Given the description of an element on the screen output the (x, y) to click on. 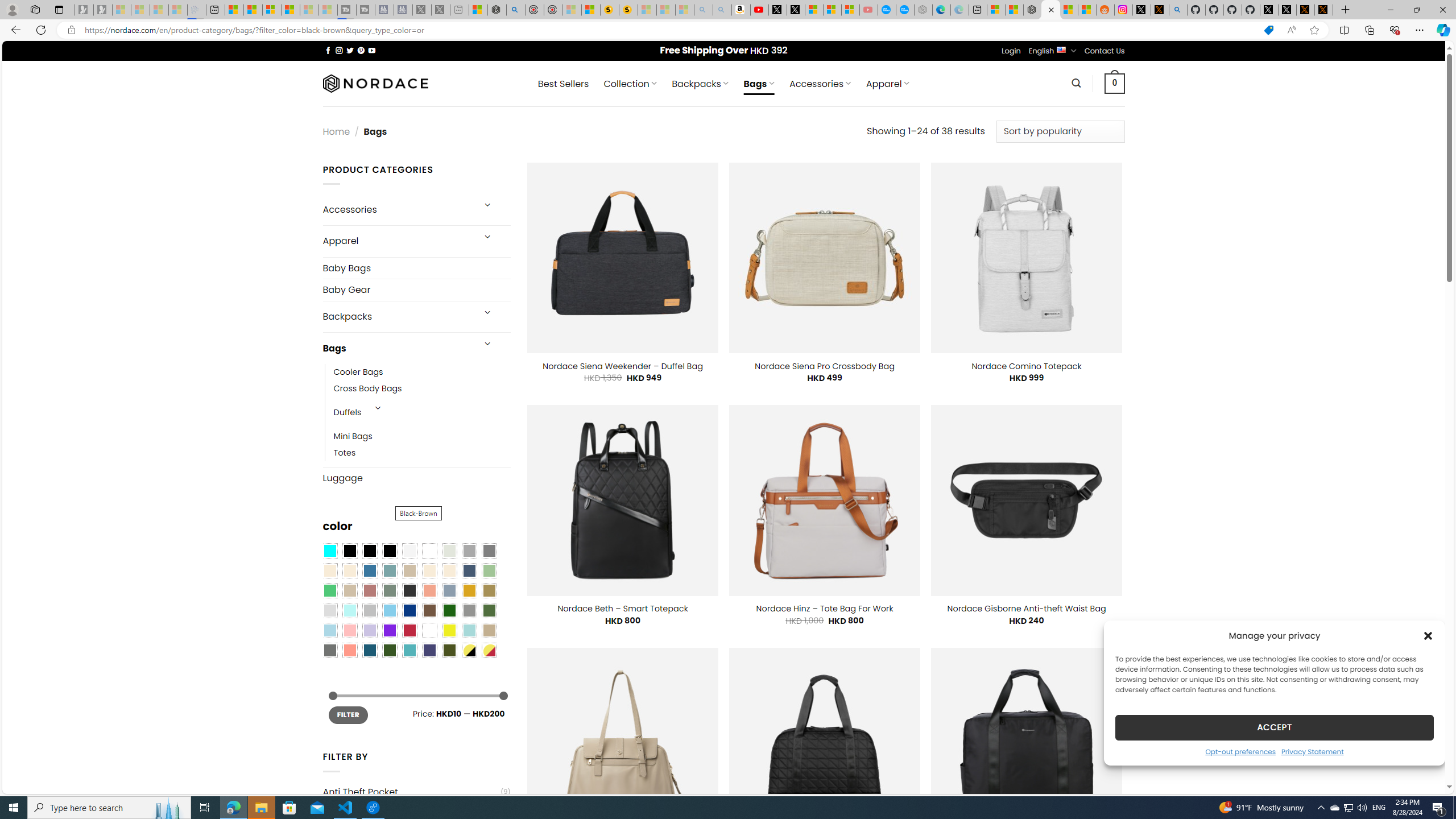
Luggage (416, 477)
Ash Gray (449, 550)
Cross Body Bags (422, 388)
Nordace Siena Pro Crossbody Bag (823, 365)
Blue (369, 570)
Follow on Instagram (338, 49)
Cross Body Bags (367, 388)
Aqua Blue (329, 550)
Luggage (416, 477)
Overview (271, 9)
FILTER (347, 714)
